Given the description of an element on the screen output the (x, y) to click on. 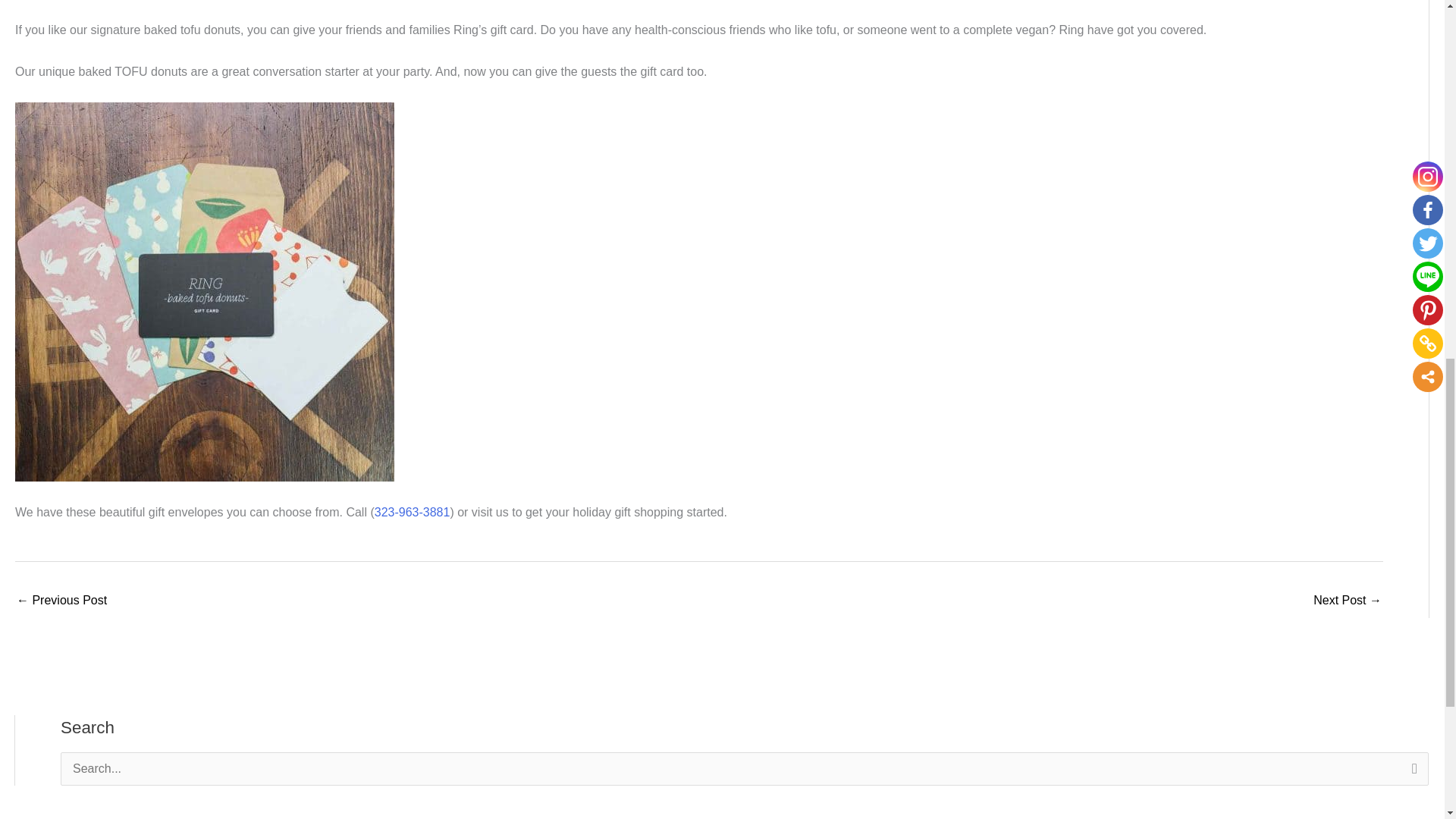
323-963-3881 (411, 512)
RING Baked Tofu Donuts on DTLA Donut Fest (61, 601)
Thanksgiving Holiday business hours (1347, 601)
